Given the description of an element on the screen output the (x, y) to click on. 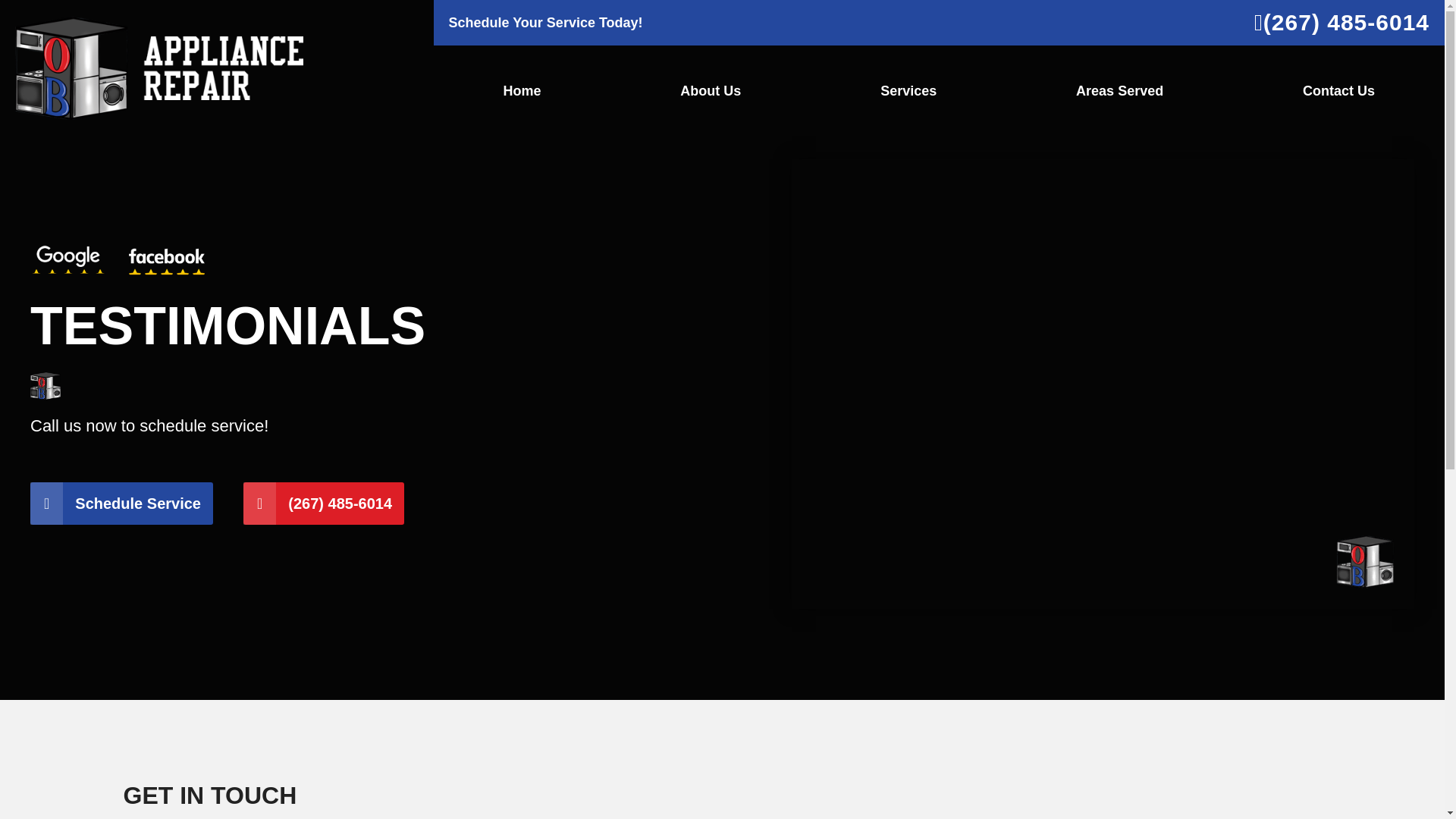
Services (908, 90)
Areas Served (1119, 90)
Home (522, 90)
Schedule Your Service Today! (545, 22)
Schedule Service (121, 503)
About Us (710, 90)
